Given the description of an element on the screen output the (x, y) to click on. 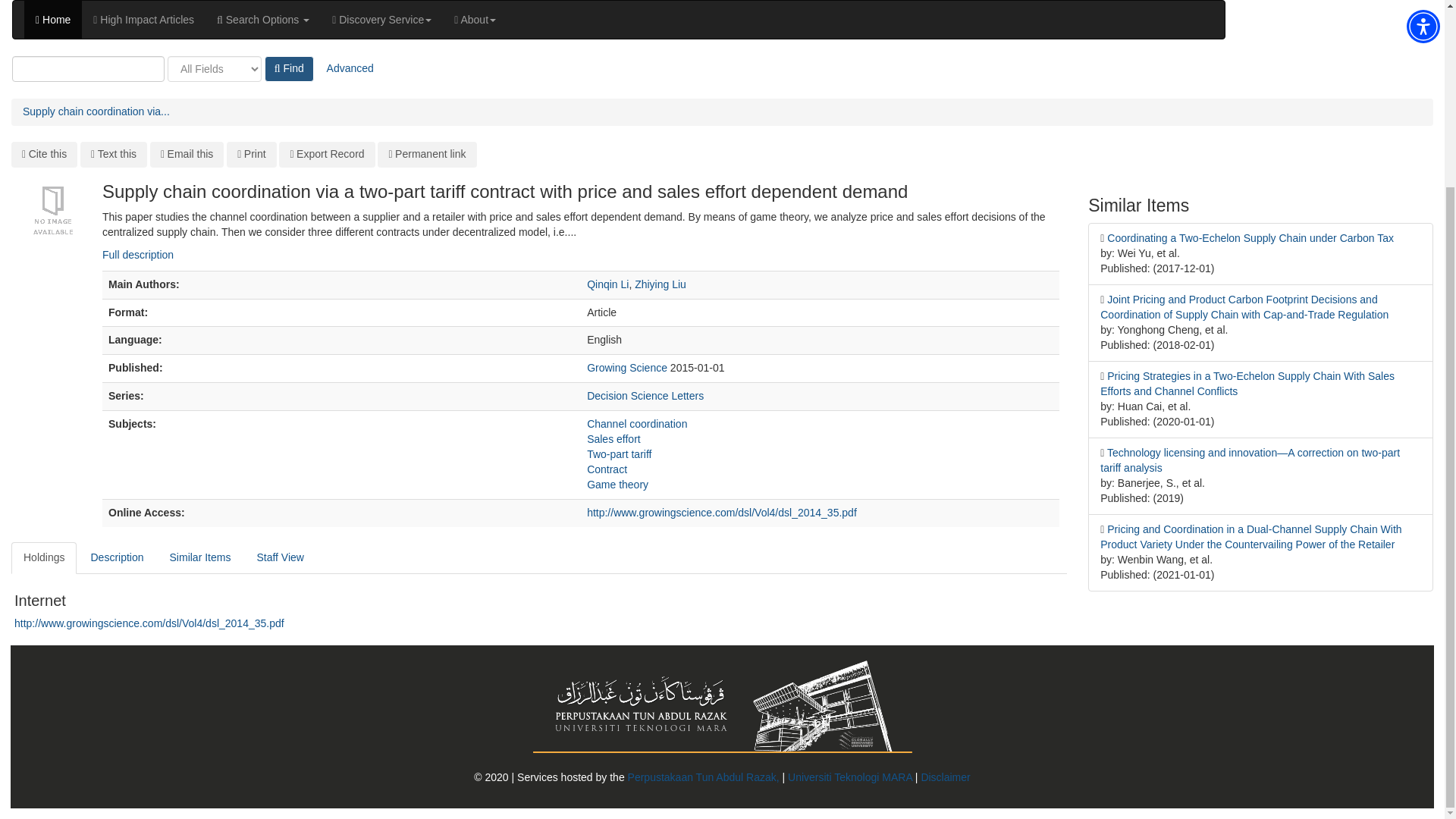
About (474, 19)
High Impact Articles (143, 19)
Contract (606, 469)
Find (289, 68)
Advanced (350, 68)
Supply chain coordination via... (96, 111)
Discovery Service (381, 19)
Search Options (262, 19)
Home (52, 19)
Sales effort (613, 439)
Cite this (44, 154)
Print (251, 154)
Export Record (326, 154)
Channel coordination (636, 423)
Game theory (616, 484)
